Given the description of an element on the screen output the (x, y) to click on. 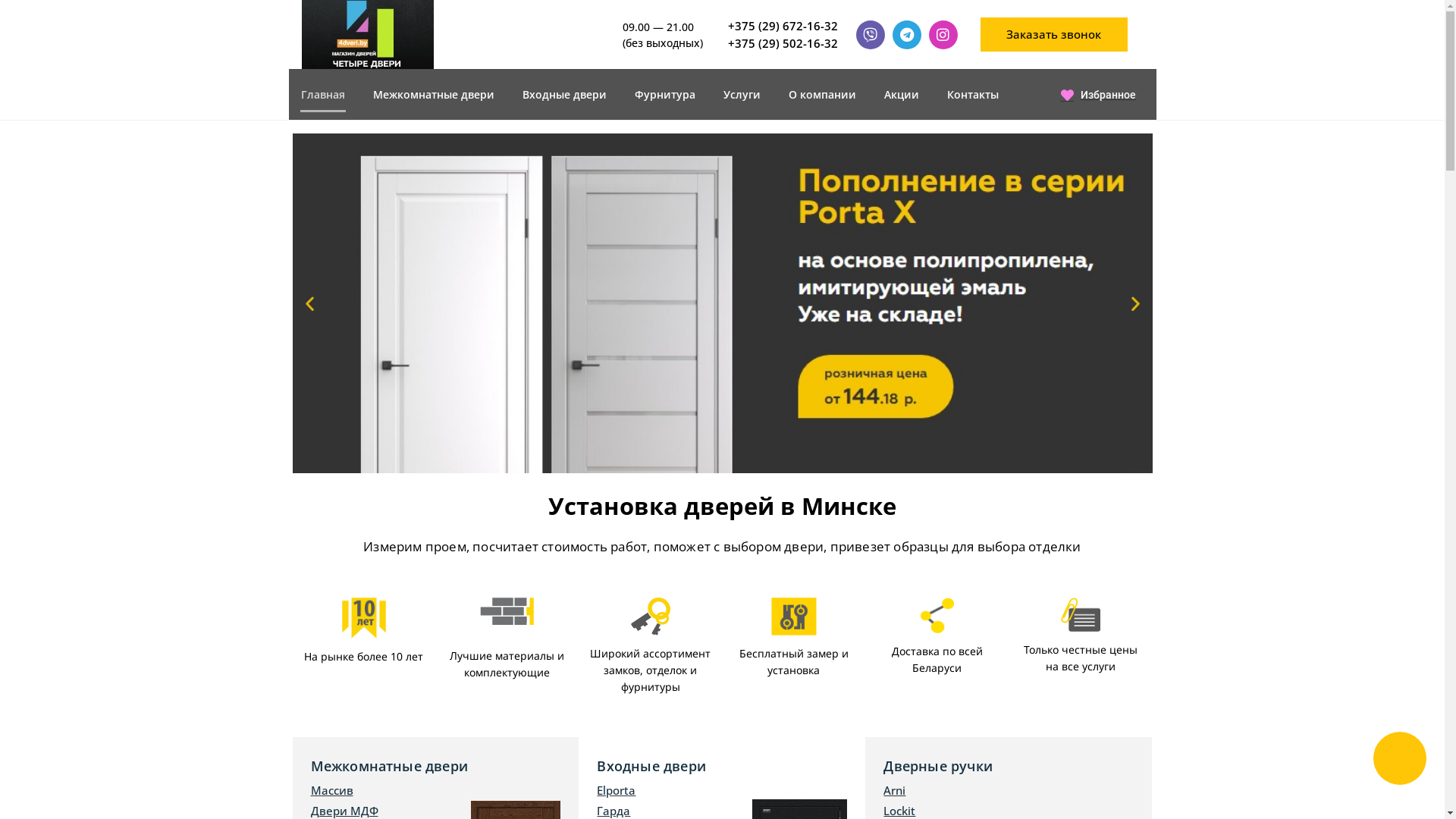
+375 (29) 672-16-32 Element type: text (784, 25)
Elporta Element type: text (721, 790)
+375 (29) 502-16-32 Element type: text (784, 43)
Arni Element type: text (1008, 790)
